Given the description of an element on the screen output the (x, y) to click on. 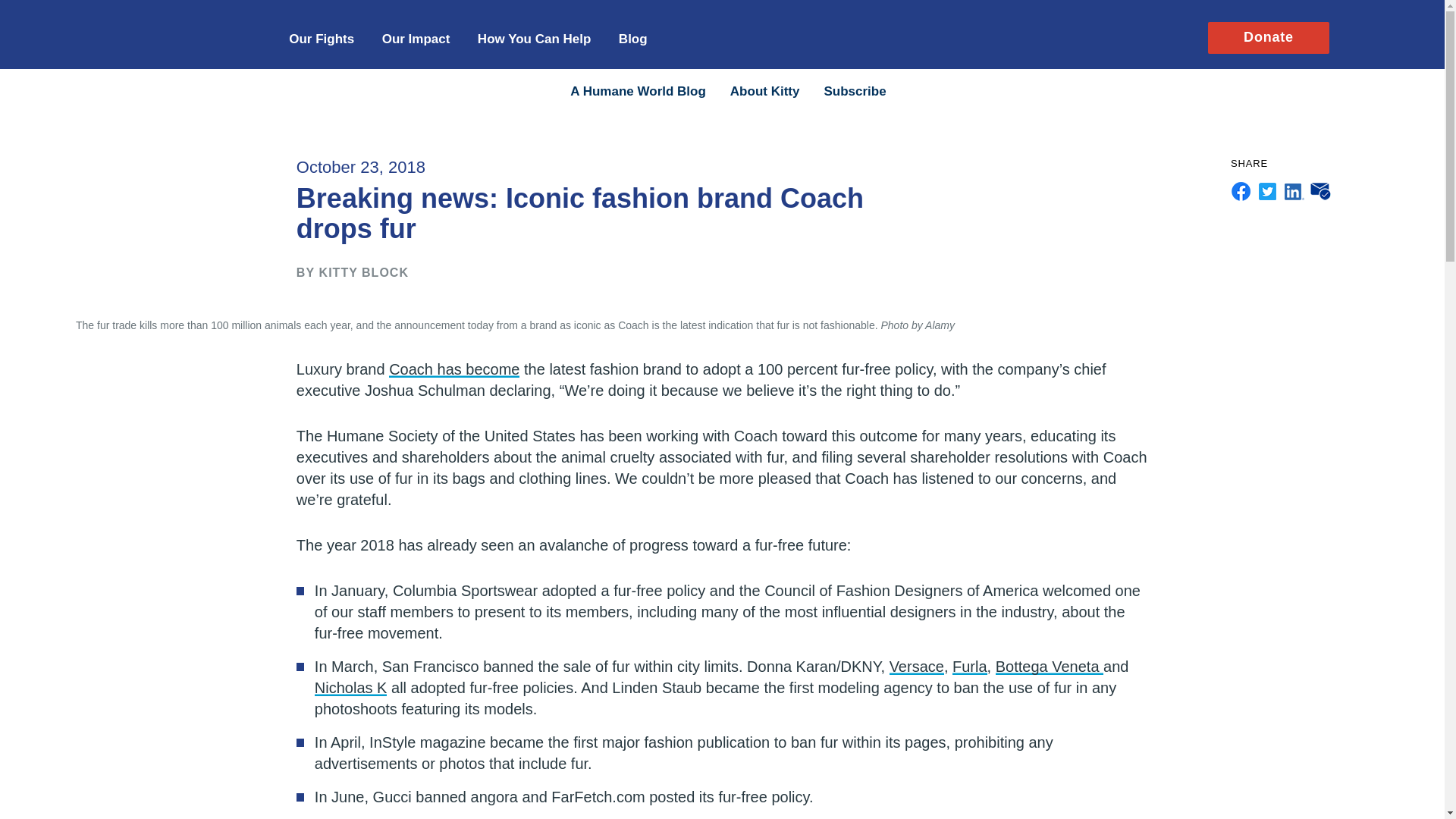
Explore all blog posts (638, 91)
Nicholas K (350, 687)
Subscribe to the blog (854, 91)
Bottega Veneta (1049, 666)
Subscribe (854, 91)
Our Impact (415, 38)
Donate (1268, 37)
Our Fights (320, 38)
Versace (916, 666)
Our Fights (320, 38)
Donate (1268, 37)
About Kitty (764, 91)
Furla (969, 666)
The Humane Society of the United States (168, 28)
